Given the description of an element on the screen output the (x, y) to click on. 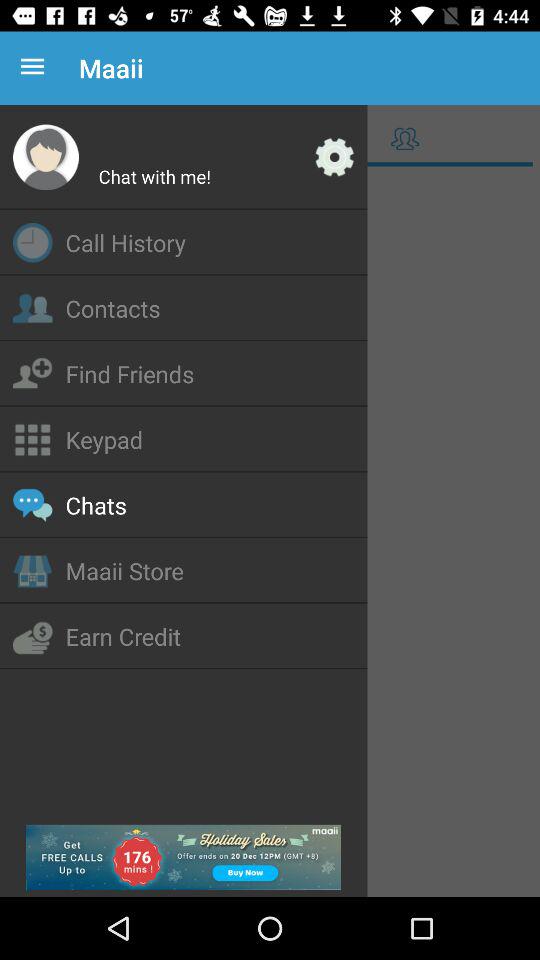
menu box (270, 533)
